Given the description of an element on the screen output the (x, y) to click on. 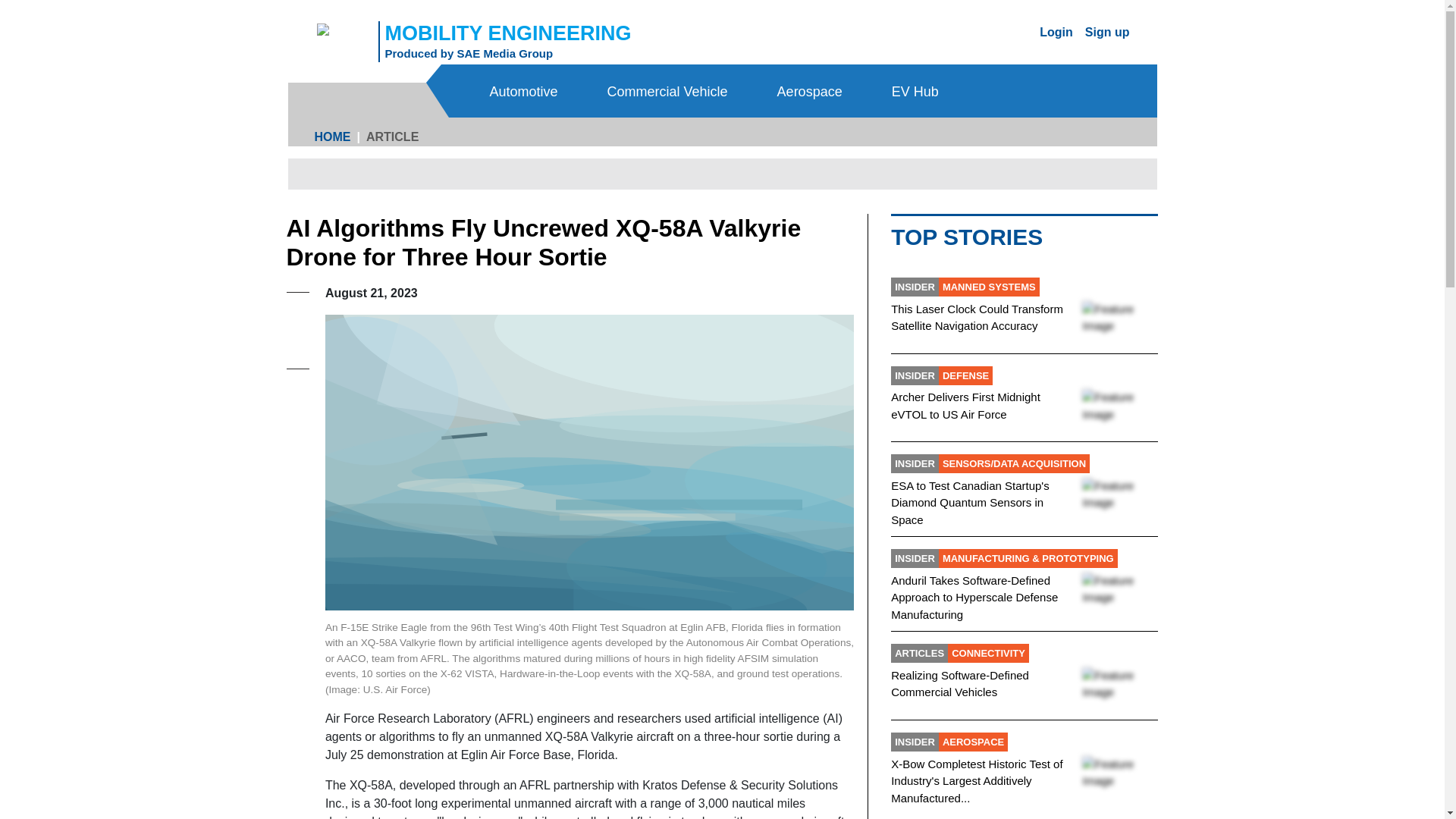
Commercial Vehicle (669, 91)
Aerospace (811, 91)
EV Hub (916, 91)
Sign up (469, 52)
Automotive (1106, 31)
Login (525, 91)
